Given the description of an element on the screen output the (x, y) to click on. 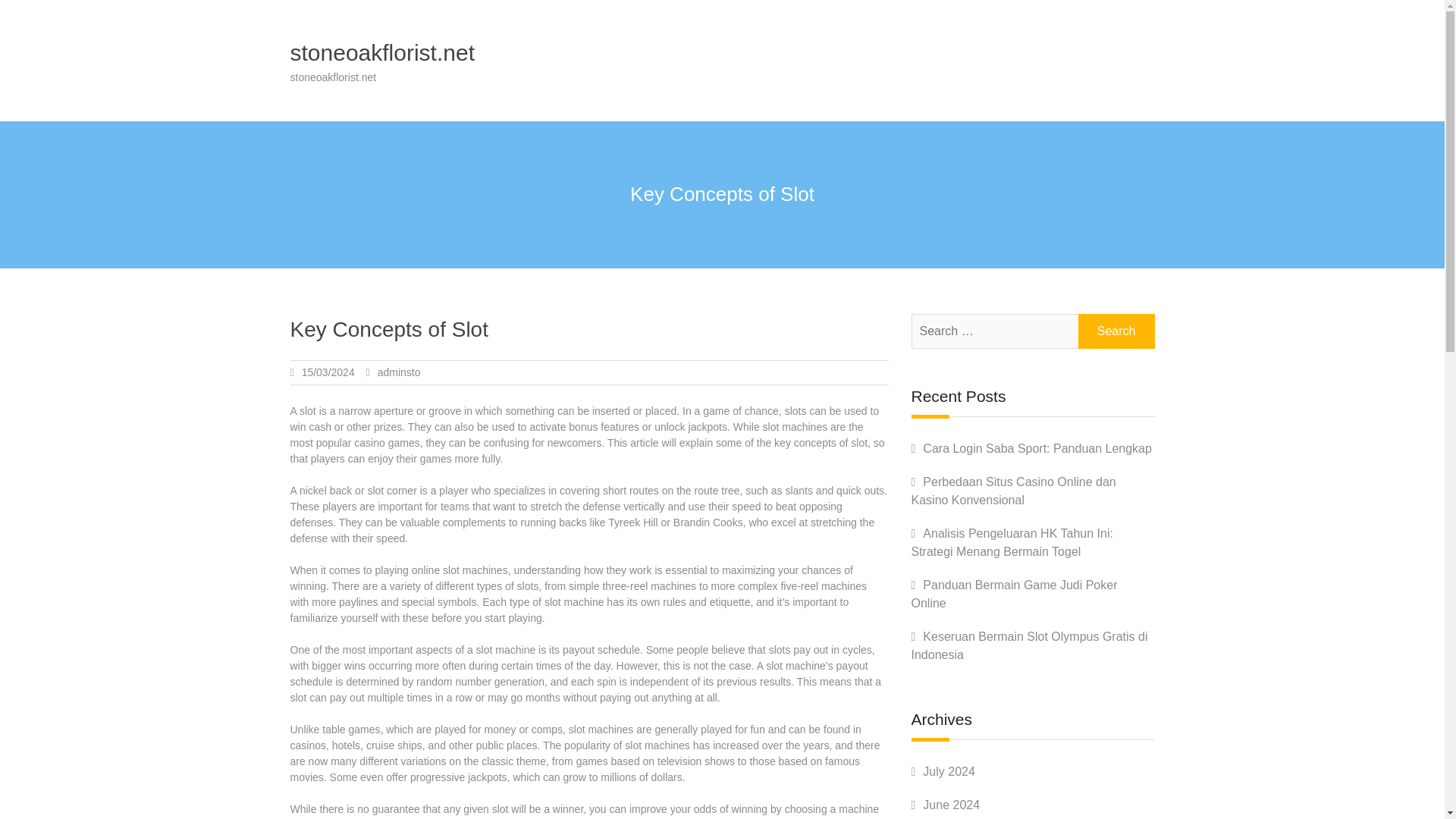
Perbedaan Situs Casino Online dan Kasino Konvensional (1013, 490)
Cara Login Saba Sport: Panduan Lengkap (1037, 448)
Keseruan Bermain Slot Olympus Gratis di Indonesia (1029, 644)
Panduan Bermain Game Judi Poker Online (1014, 593)
Search (1116, 330)
Search (1116, 330)
June 2024 (951, 804)
stoneoakflorist.net (381, 52)
adminsto (398, 372)
Search (1116, 330)
July 2024 (949, 771)
